Given the description of an element on the screen output the (x, y) to click on. 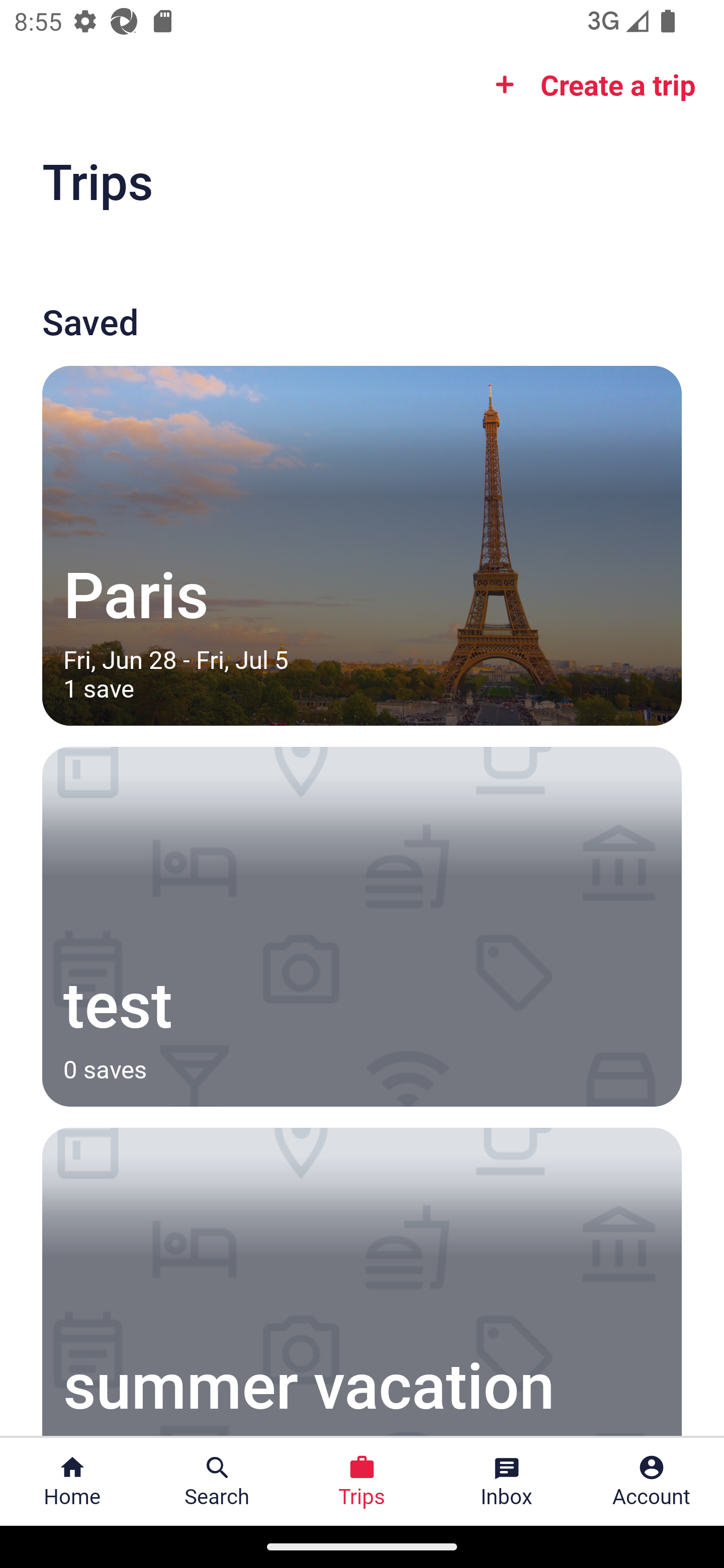
Create a trip Create a trip Button (589, 84)
test. 0 saves.  Button test 0 saves (361, 926)
Home Home Button (72, 1481)
Search Search Button (216, 1481)
Inbox Inbox Button (506, 1481)
Account Profile. Button (651, 1481)
